Given the description of an element on the screen output the (x, y) to click on. 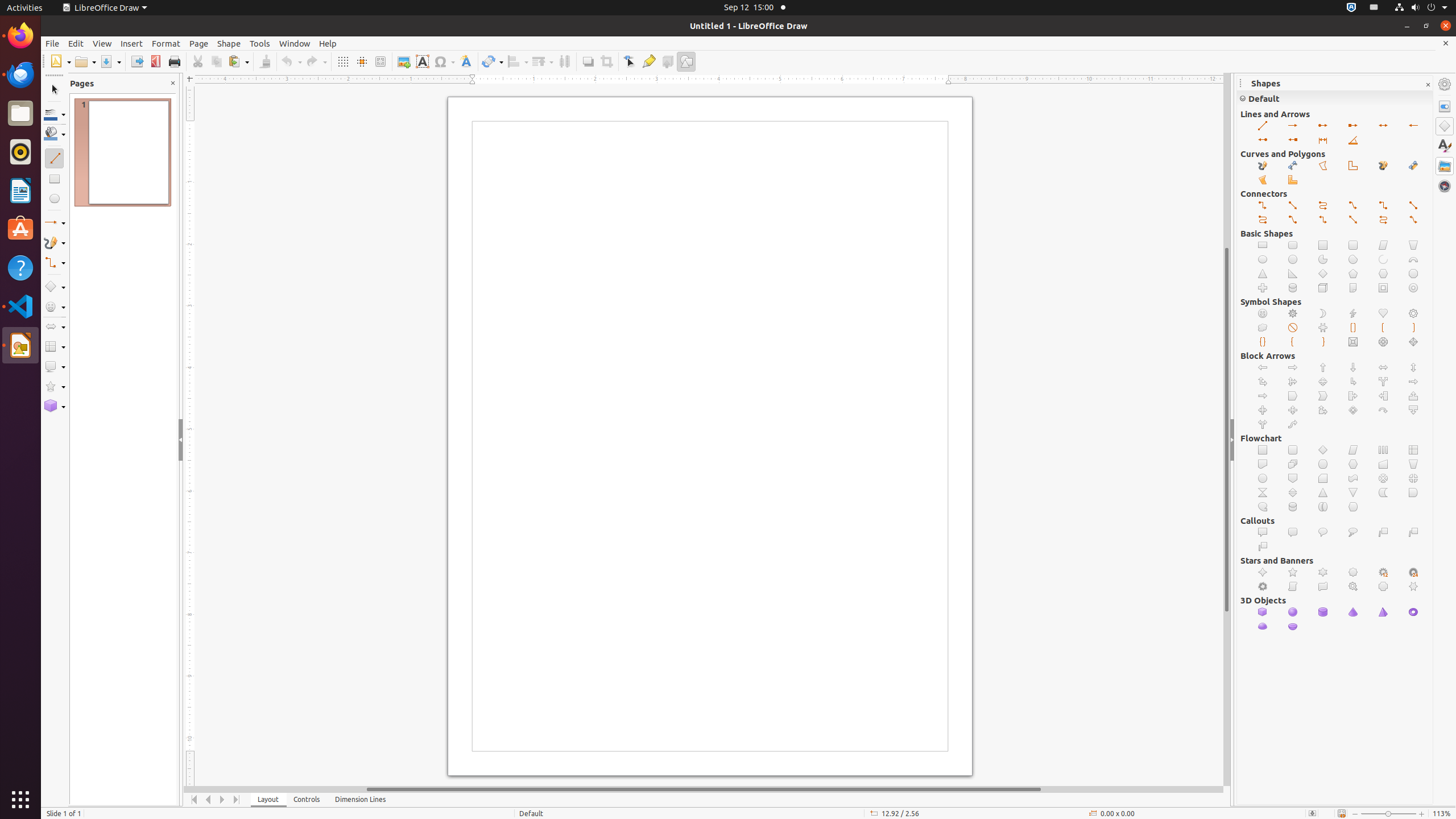
Rounded Rectangular Callout Element type: list-item (1292, 532)
Doorplate Element type: list-item (1383, 586)
Tools Element type: menu (259, 43)
Insert Line Element type: list-item (1262, 125)
Flowchart: Sort Element type: list-item (1292, 492)
